Given the description of an element on the screen output the (x, y) to click on. 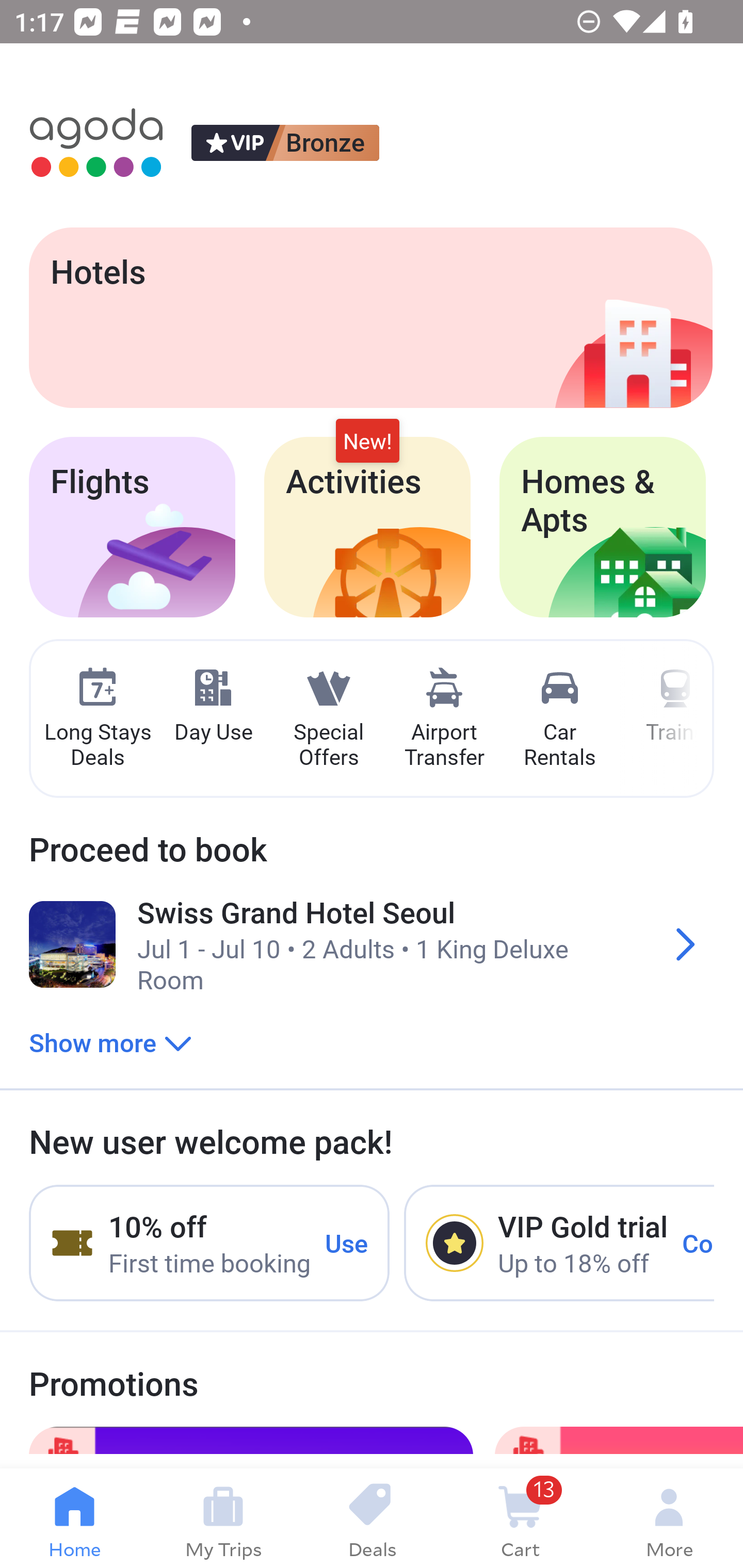
Hotels (370, 317)
New! (367, 441)
Flights (131, 527)
Activities (367, 527)
Homes & Apts (602, 527)
Day Use (213, 706)
Long Stays Deals (97, 718)
Special Offers (328, 718)
Airport Transfer (444, 718)
Car Rentals (559, 718)
Show more (110, 1041)
Use (346, 1242)
Home (74, 1518)
My Trips (222, 1518)
Deals (371, 1518)
13 Cart (519, 1518)
More (668, 1518)
